Given the description of an element on the screen output the (x, y) to click on. 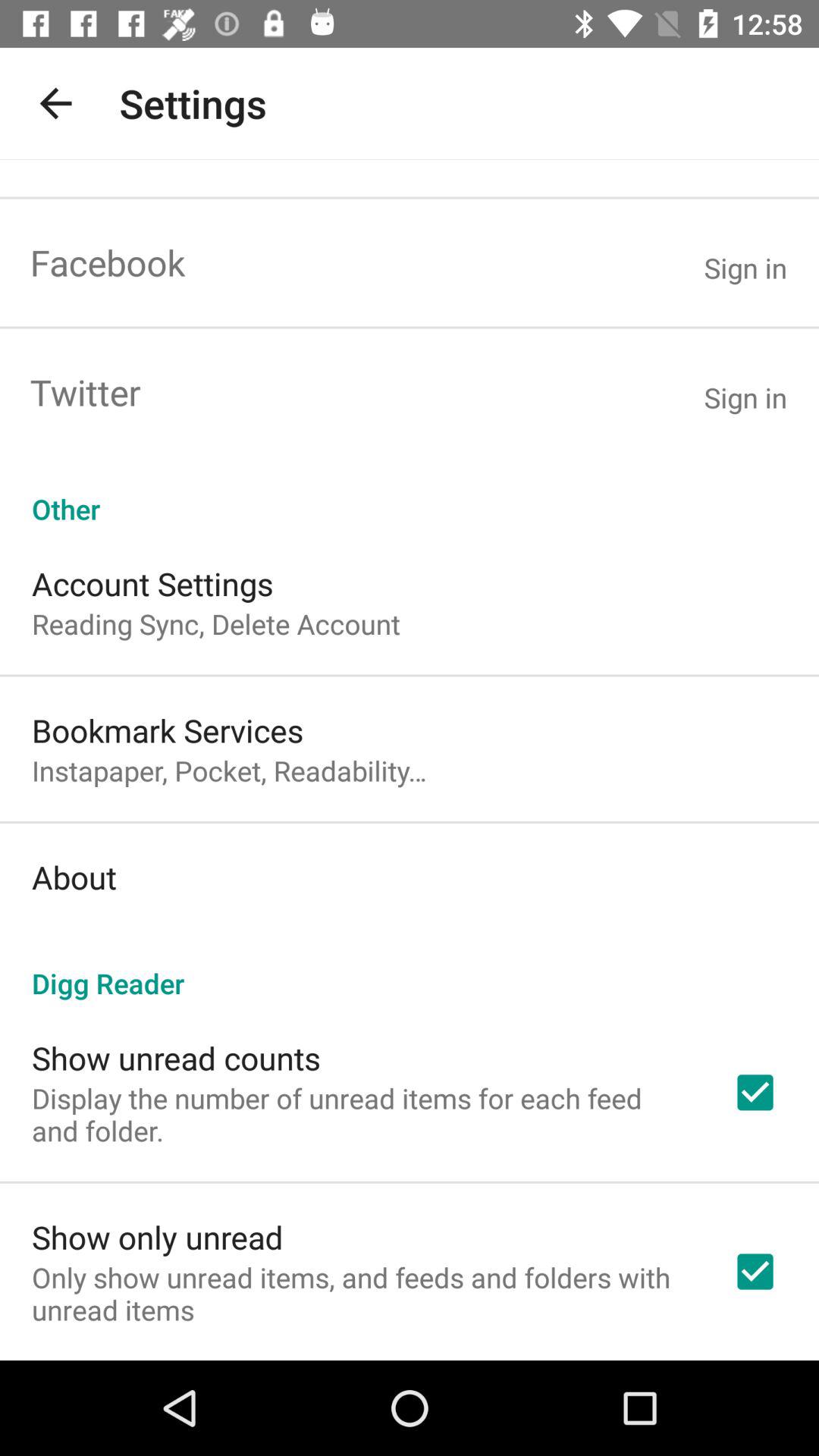
open the app next to settings (55, 103)
